Given the description of an element on the screen output the (x, y) to click on. 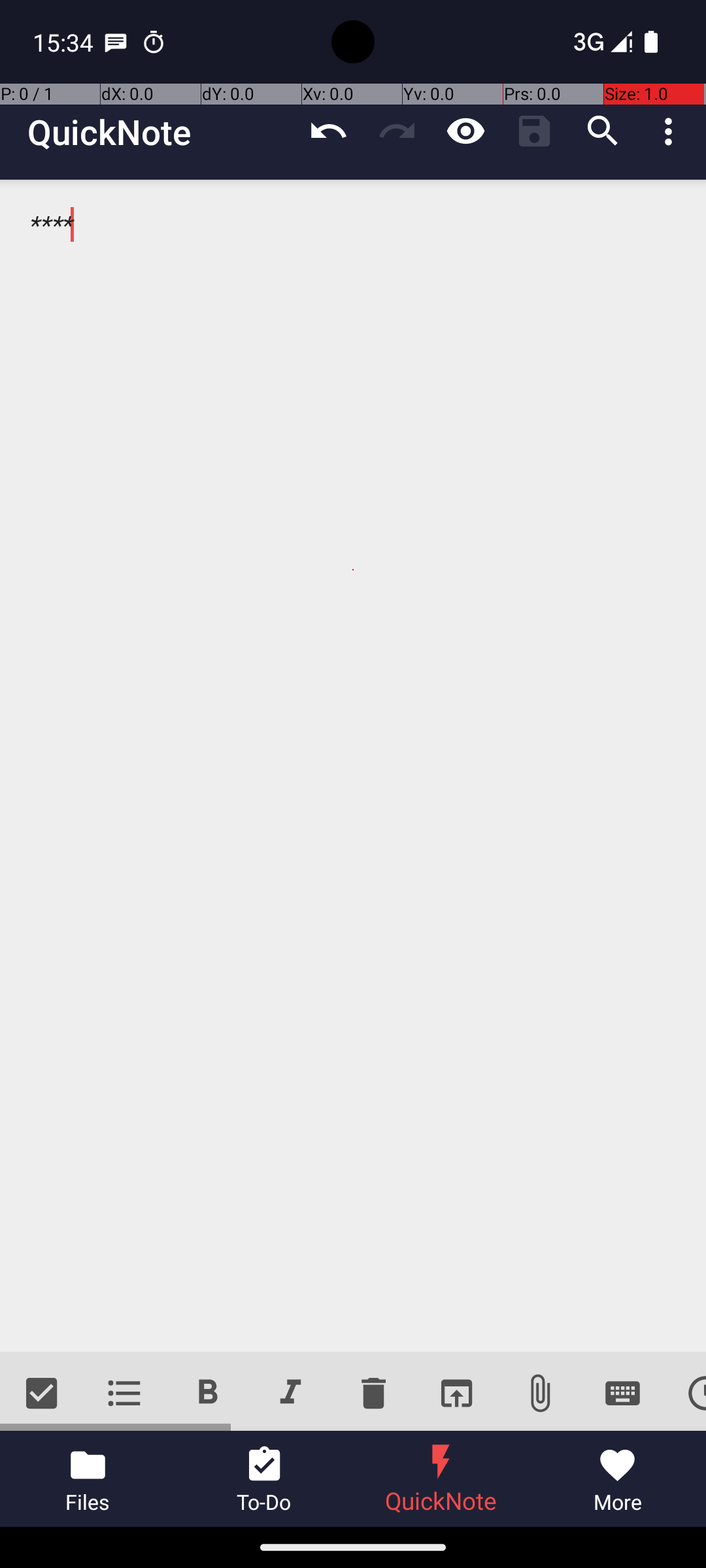
**** Element type: android.widget.EditText (353, 765)
